Given the description of an element on the screen output the (x, y) to click on. 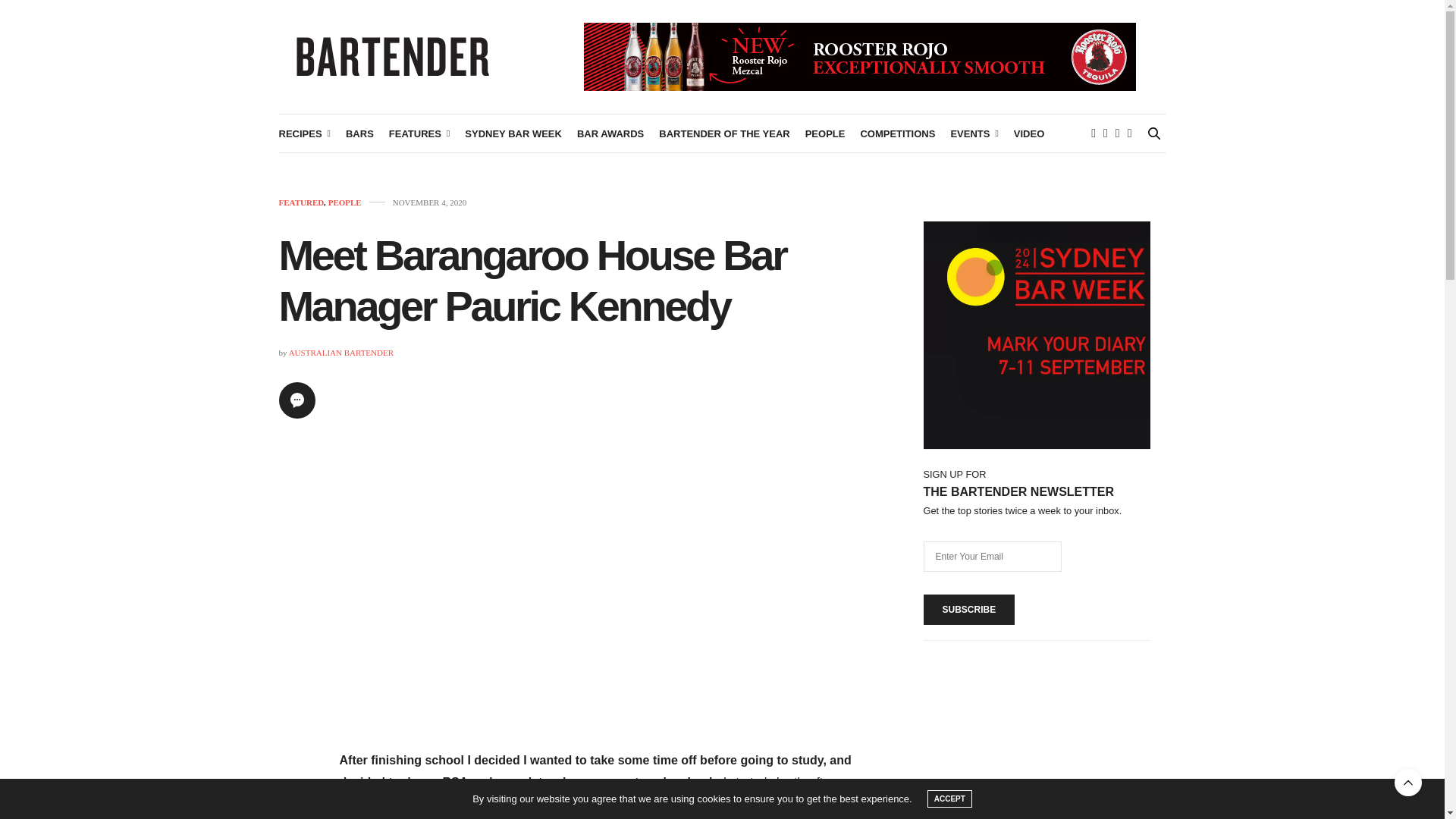
RECIPES (304, 133)
FEATURES (418, 133)
Posts by Australian Bartender (340, 352)
Scroll To Top (1408, 782)
australianbartender.com.au (393, 56)
Subscribe (968, 609)
